Given the description of an element on the screen output the (x, y) to click on. 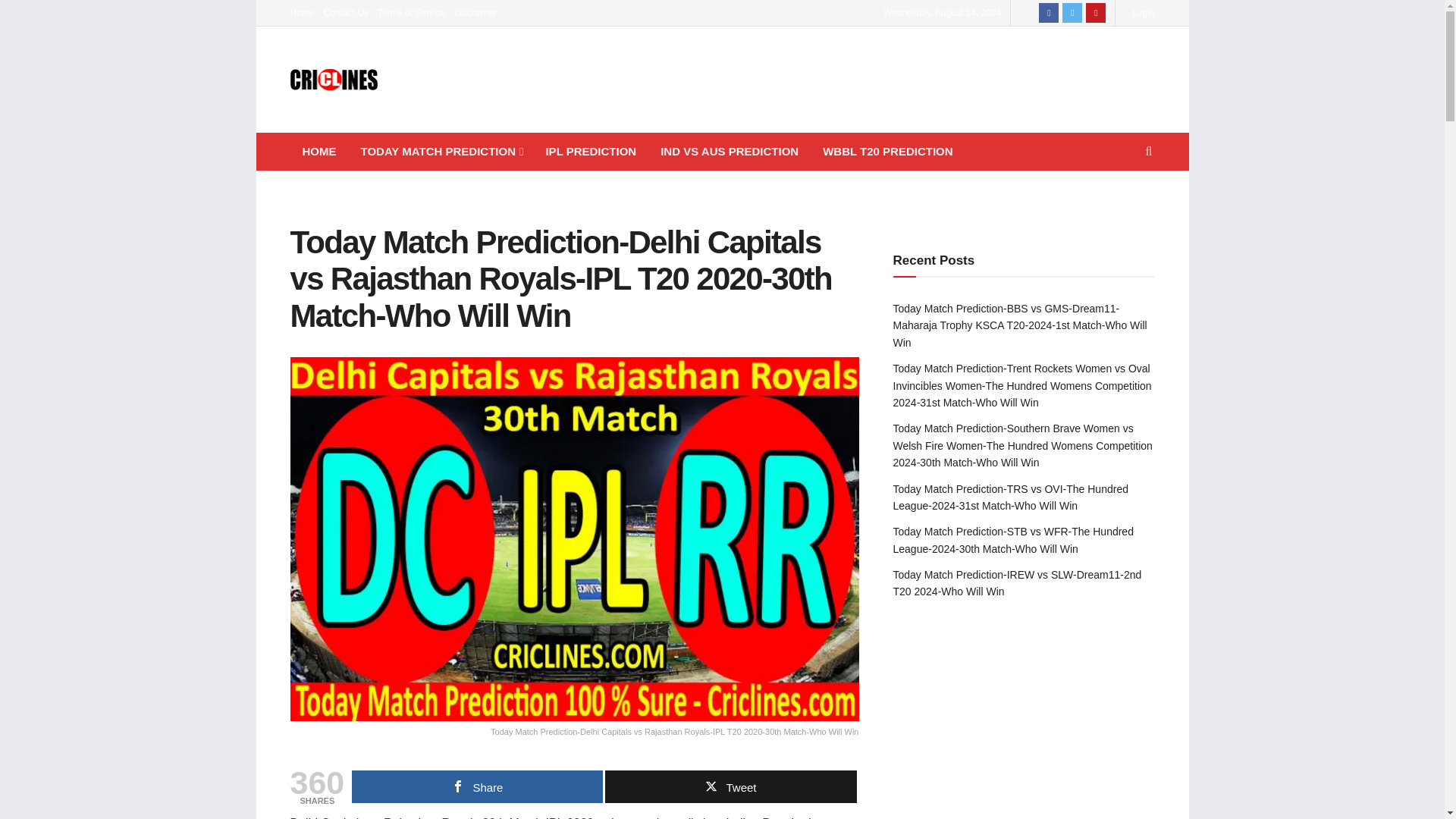
IPL PREDICTION (589, 151)
TODAY MATCH PREDICTION (441, 151)
Home (301, 12)
Contact Us (345, 12)
WBBL T20 PREDICTION (886, 151)
HOME (318, 151)
IND VS AUS PREDICTION (728, 151)
Disclaimer (475, 12)
Login (1139, 12)
Terms of Service (411, 12)
